Given the description of an element on the screen output the (x, y) to click on. 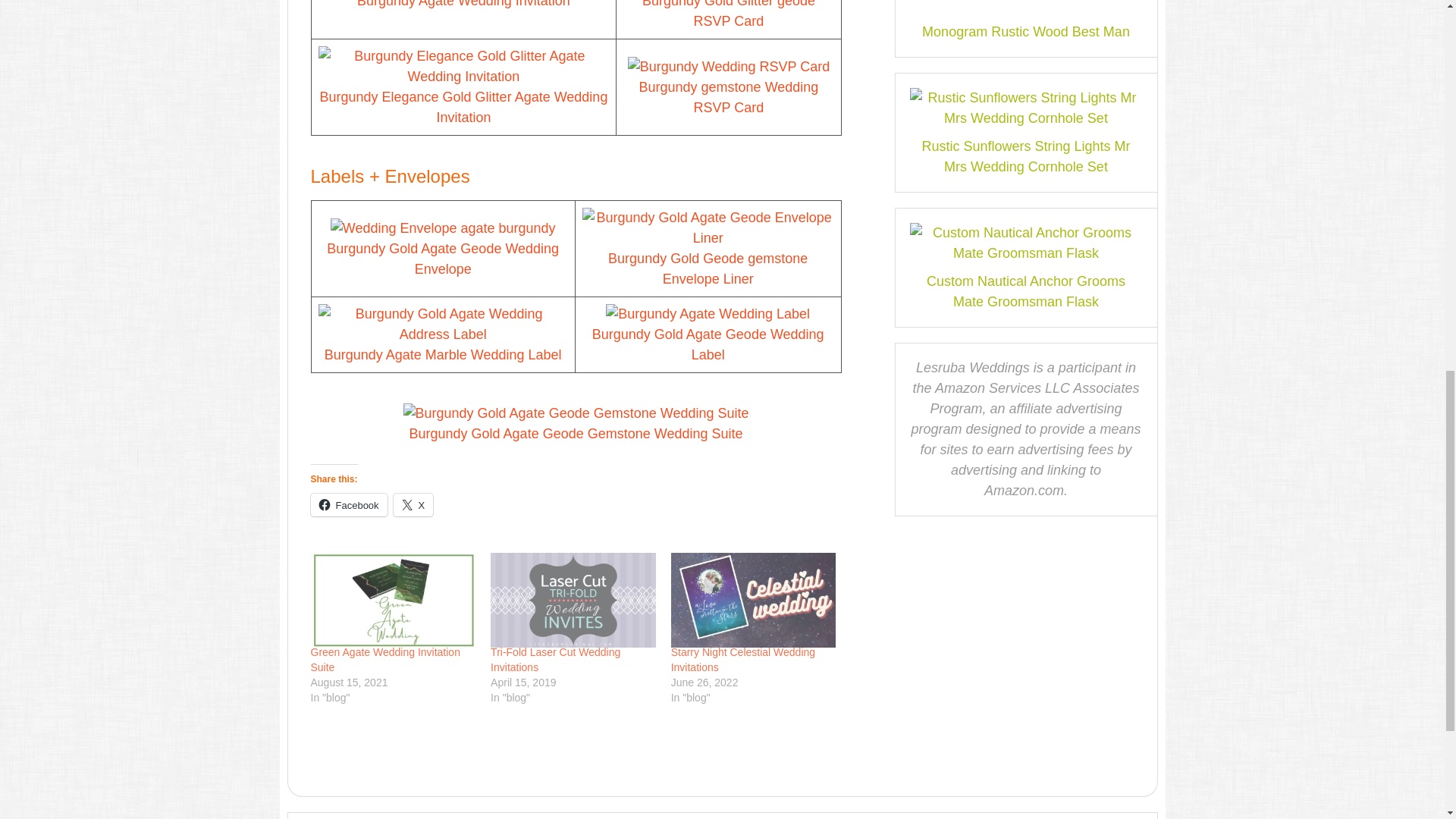
Starry Night Celestial Wedding Invitations (753, 599)
Green Agate Wedding Invitation Suite (385, 659)
Click to share on Facebook (349, 504)
Click to share on X (413, 504)
Green Agate Wedding Invitation Suite (393, 599)
Tri-Fold Laser Cut Wedding Invitations (573, 599)
Tri-Fold Laser Cut Wedding Invitations (555, 659)
